Given the description of an element on the screen output the (x, y) to click on. 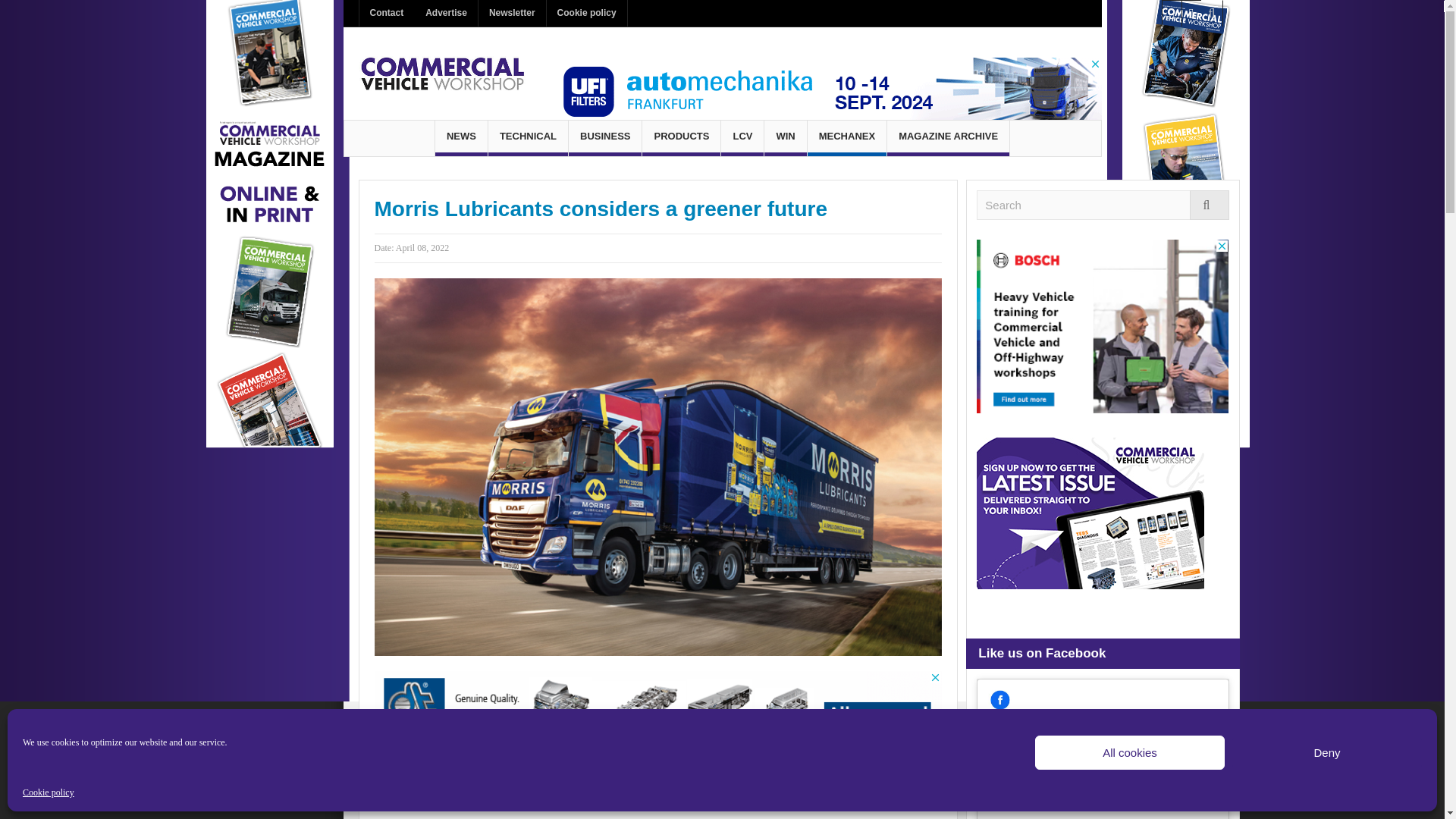
Search (1102, 205)
MECHANEX (847, 138)
Newsletter (512, 13)
PRODUCTS (681, 138)
Cookie policy (48, 792)
NEWS (461, 138)
Search for: (1102, 205)
BUSINESS (605, 138)
cvw (441, 72)
LCV (741, 138)
